Given the description of an element on the screen output the (x, y) to click on. 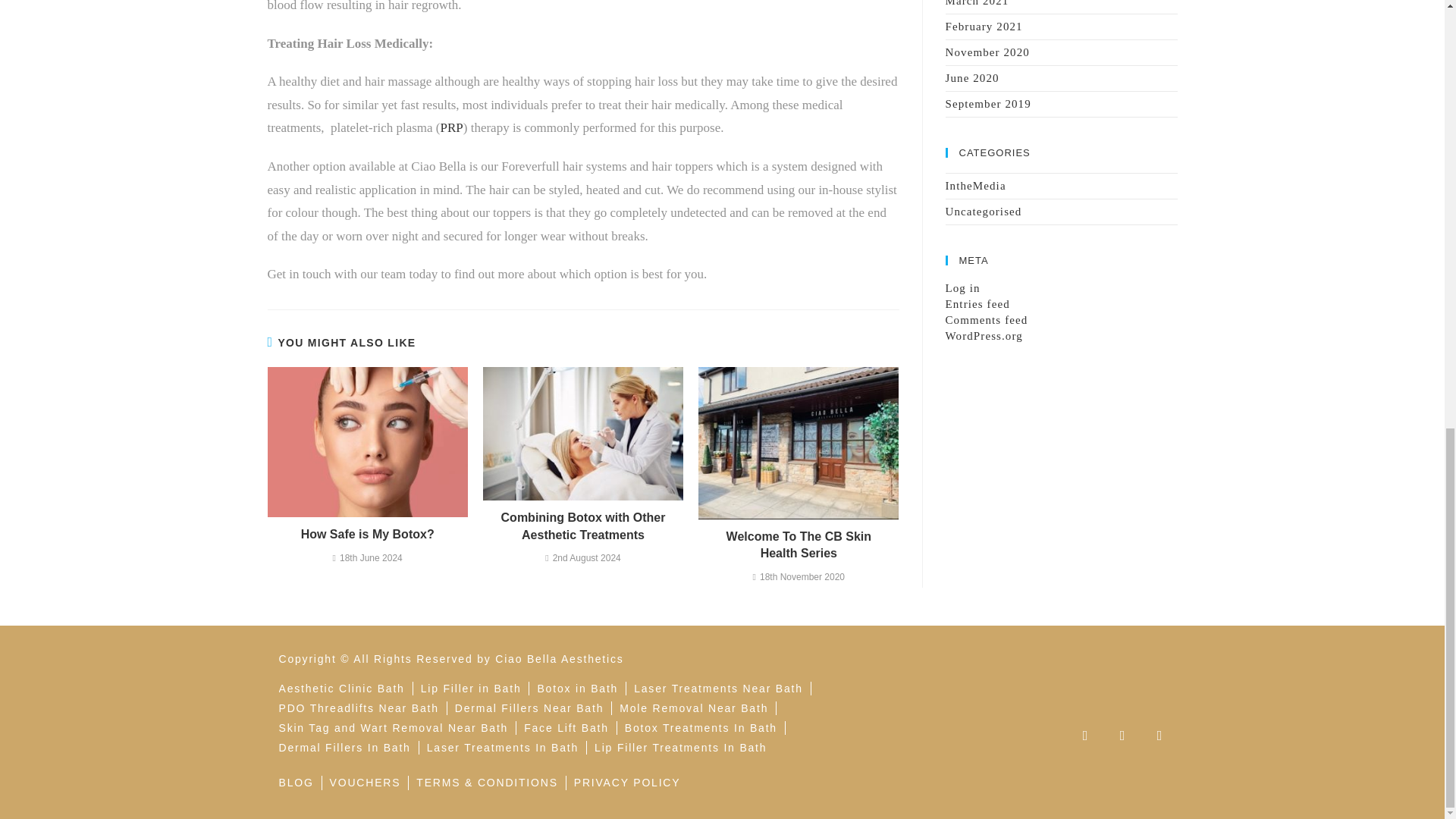
Combining Botox with Other Aesthetic Treatments (583, 526)
How Safe is My Botox? (367, 534)
Welcome To The CB Skin Health Series (798, 545)
